Given the description of an element on the screen output the (x, y) to click on. 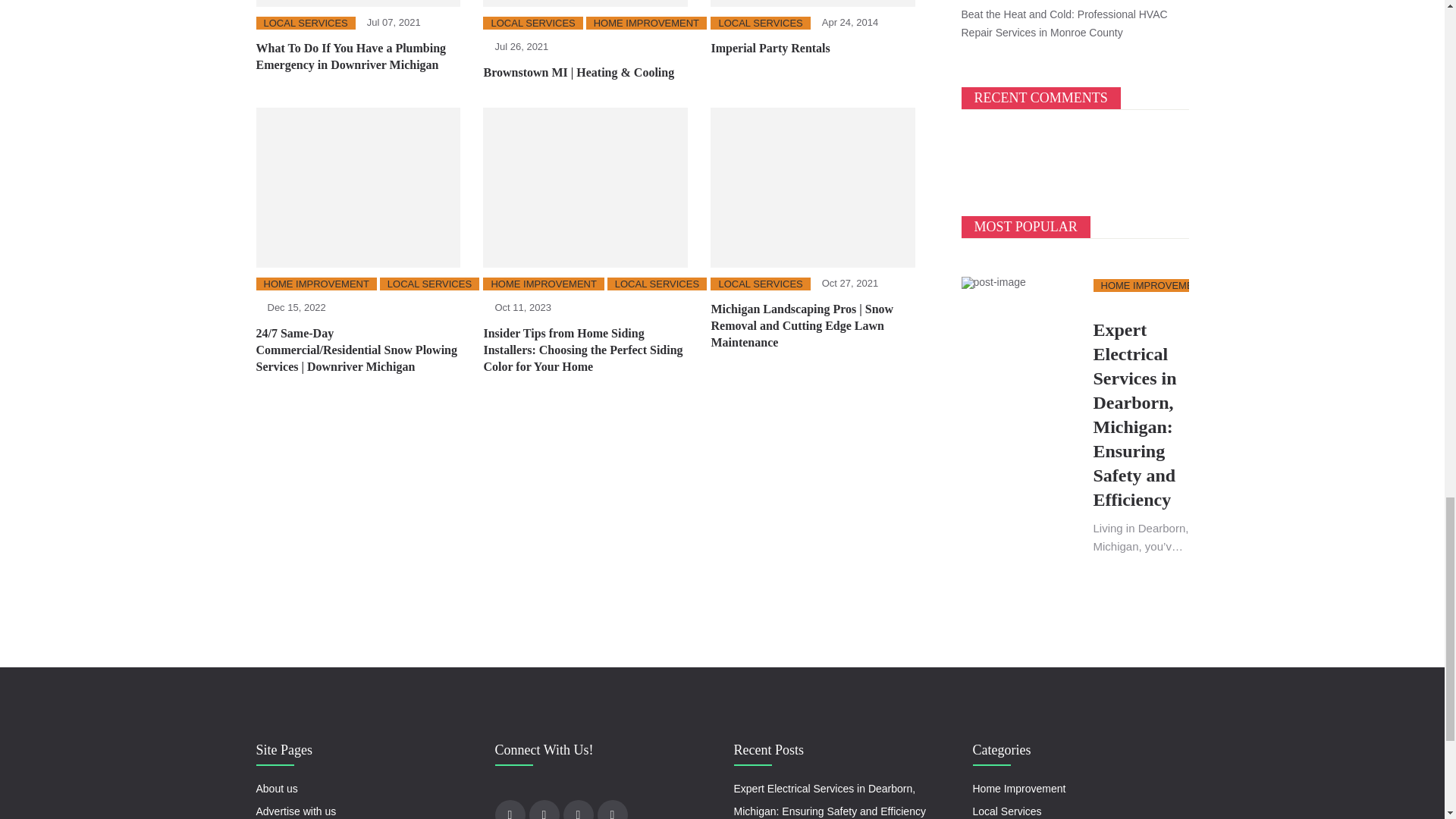
LOCAL SERVICES (532, 22)
LOCAL SERVICES (305, 22)
HOME IMPROVEMENT (646, 22)
